Given the description of an element on the screen output the (x, y) to click on. 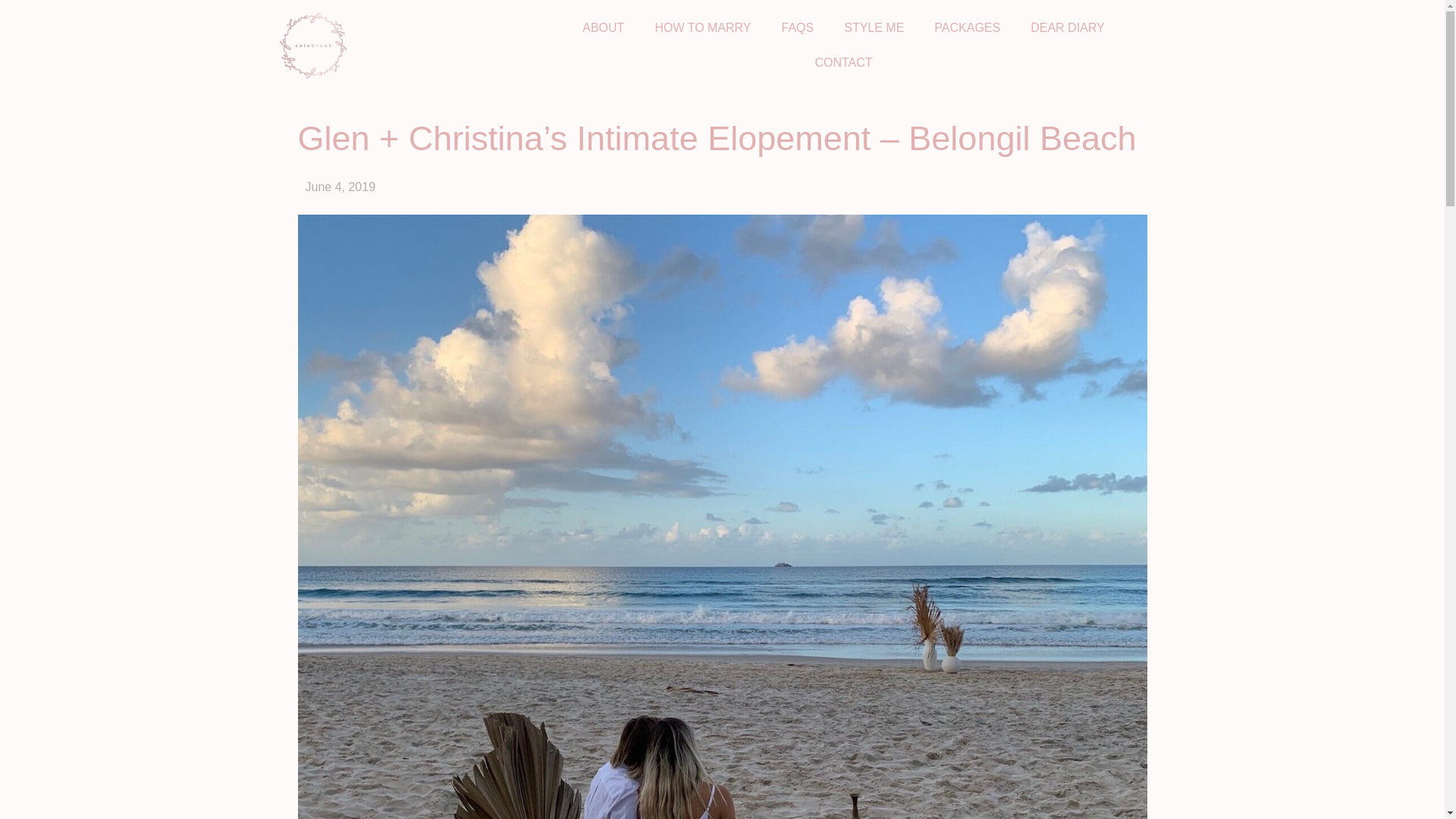
DEAR DIARY (1066, 27)
CONTACT (842, 62)
STYLE ME (873, 27)
FAQS (798, 27)
ABOUT (603, 27)
HOW TO MARRY (702, 27)
PACKAGES (966, 27)
